Given the description of an element on the screen output the (x, y) to click on. 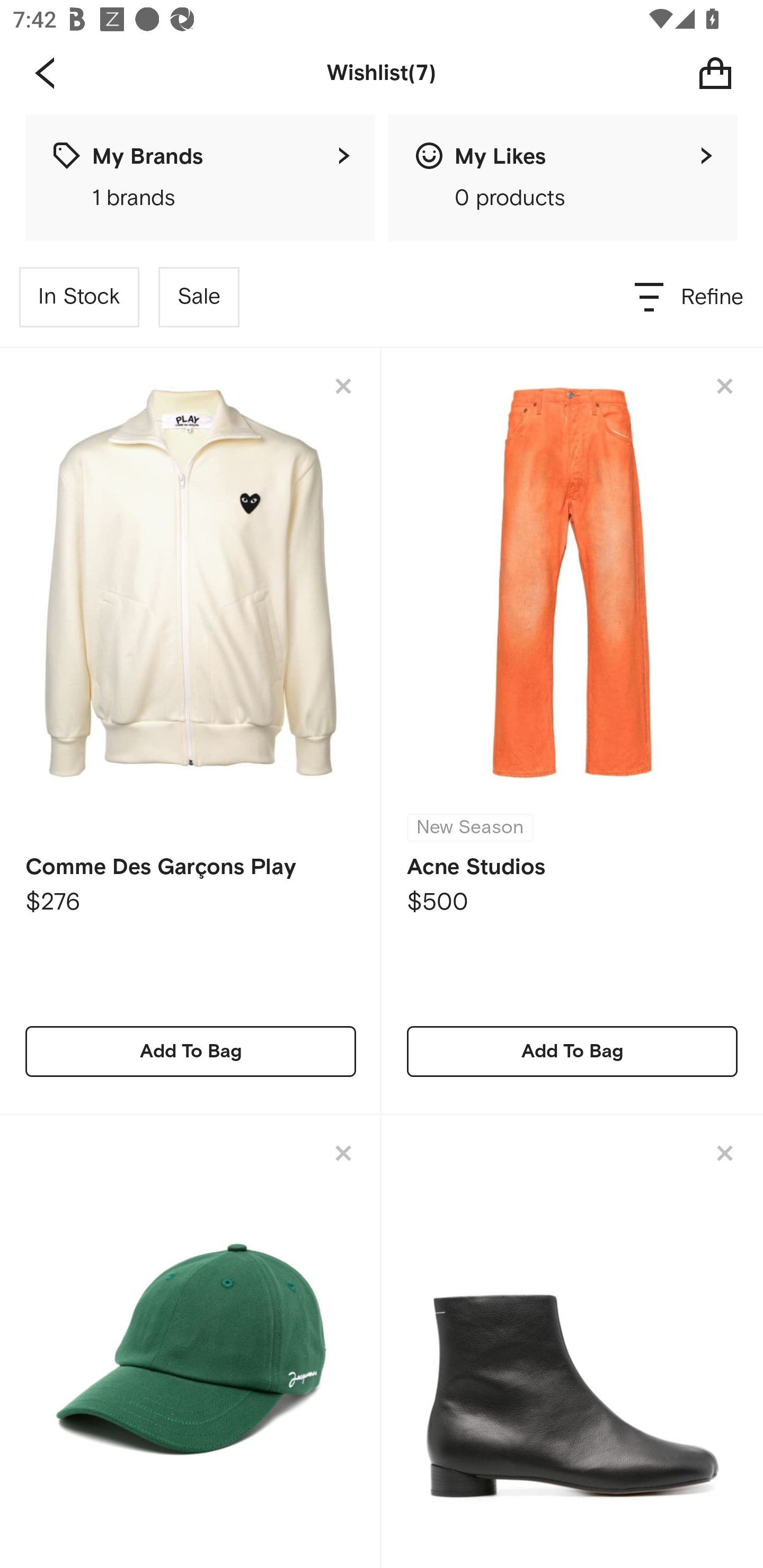
My Brands 1 brands (200, 177)
My Likes 0 products (562, 177)
In Stock (79, 296)
Sale (198, 296)
Refine (690, 296)
Comme Des Garçons Play $276 Add To Bag (190, 731)
New Season Acne Studios $500 Add To Bag (572, 731)
Add To Bag (190, 1050)
Add To Bag (571, 1050)
